Given the description of an element on the screen output the (x, y) to click on. 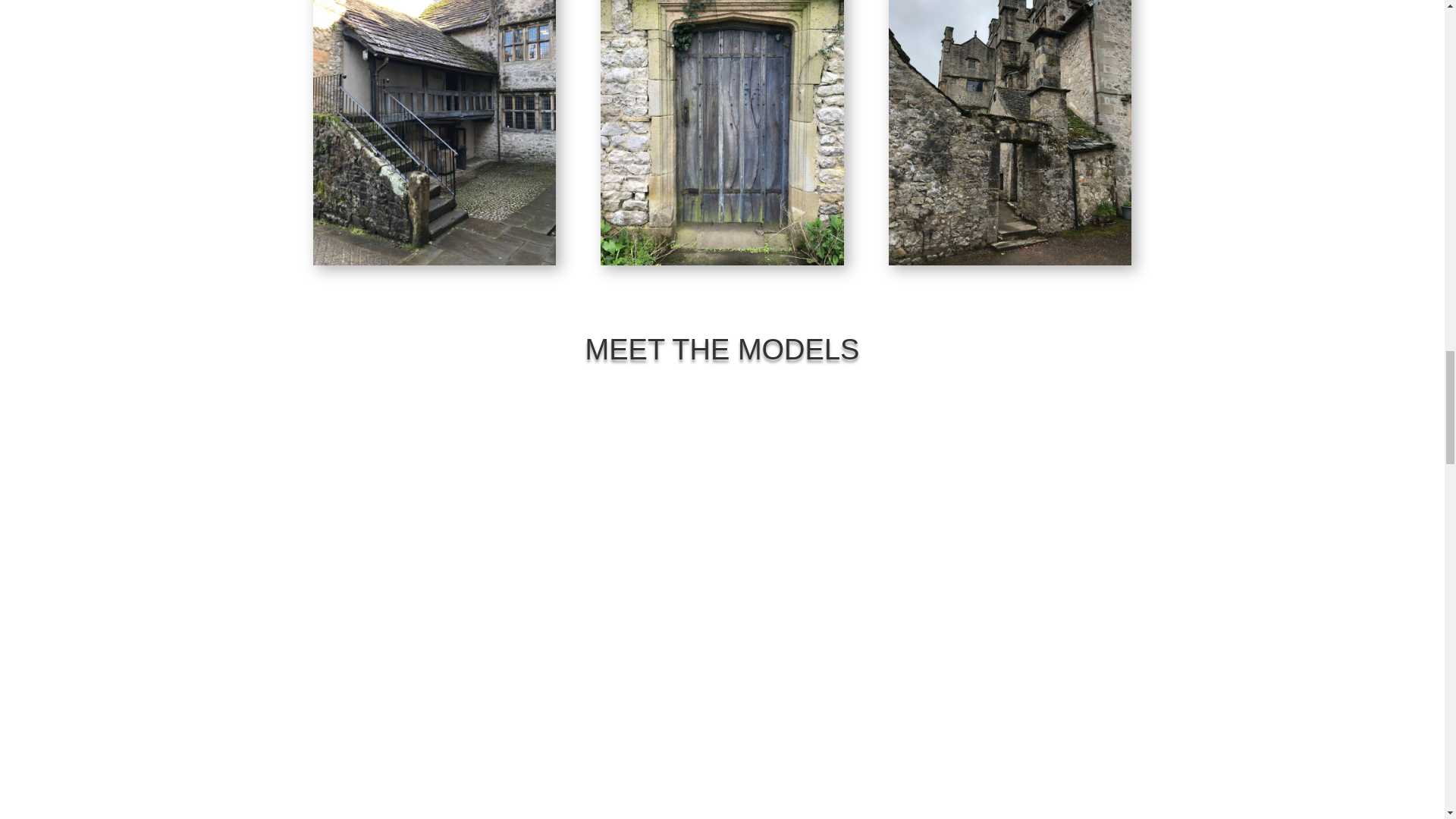
Borwick Hall (721, 132)
Borwick Hall (433, 132)
